Given the description of an element on the screen output the (x, y) to click on. 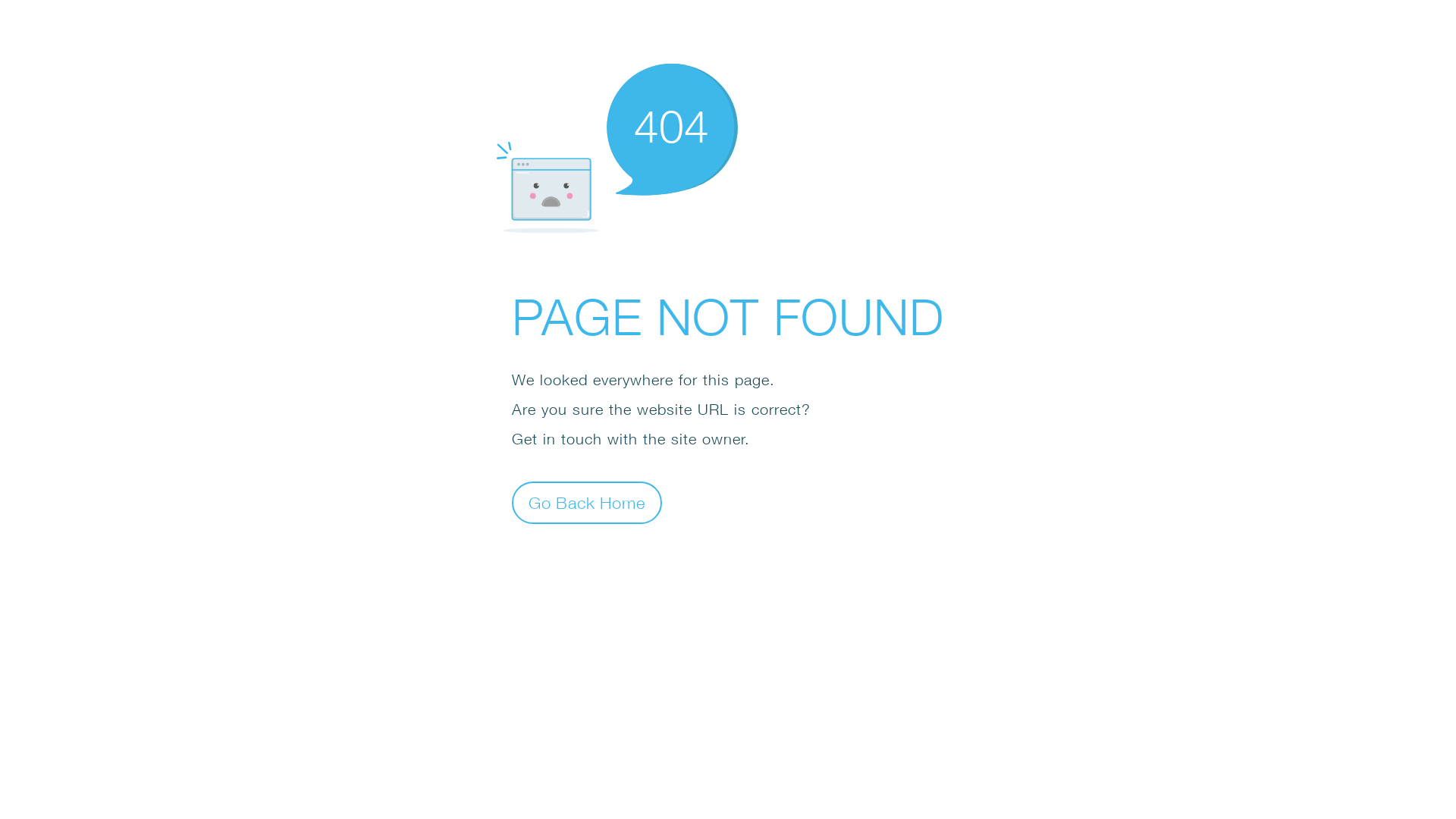
Go Back Home Element type: text (586, 502)
